Given the description of an element on the screen output the (x, y) to click on. 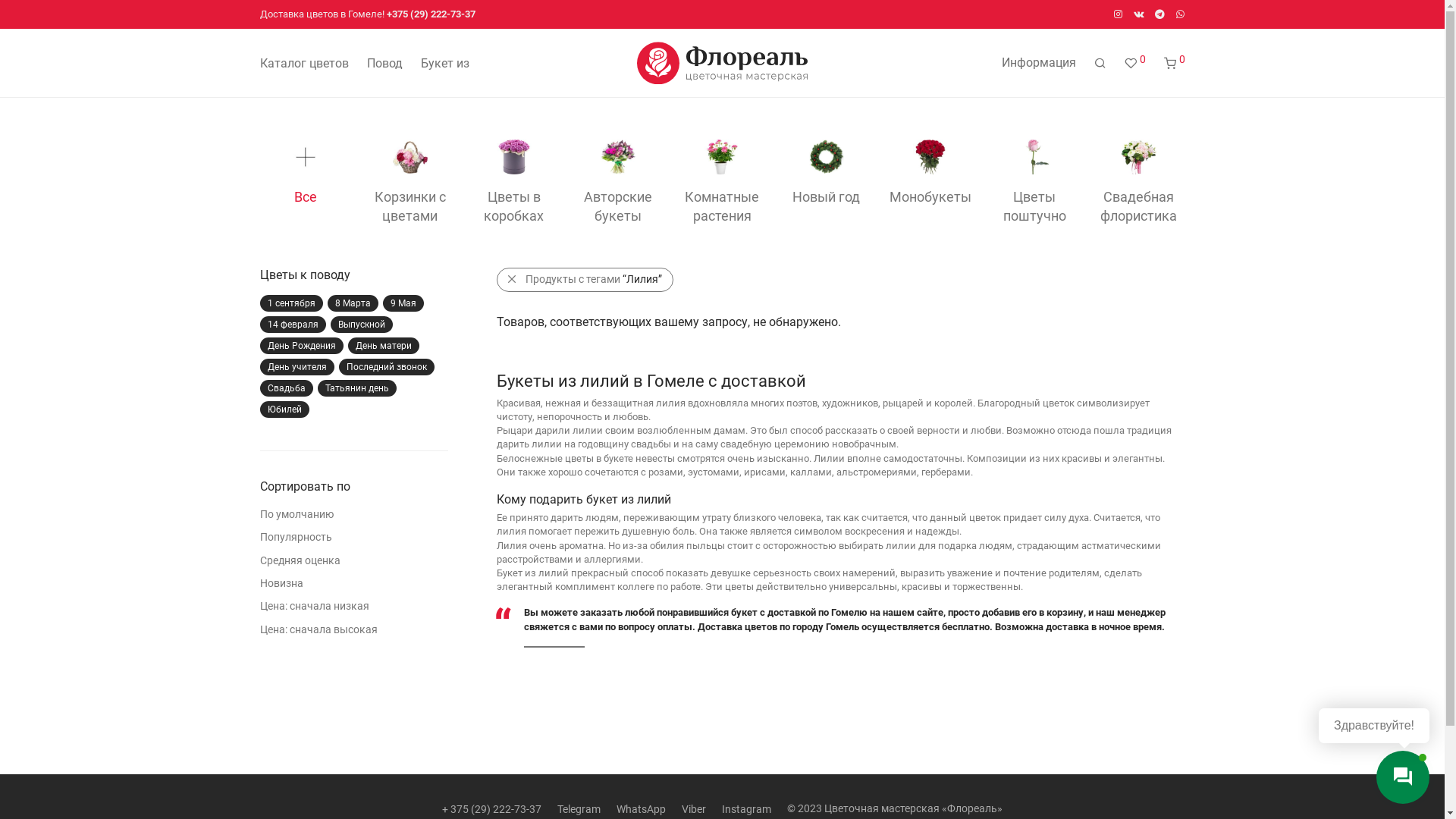
WhatsApp Element type: hover (1180, 13)
Instagram Element type: hover (1117, 13)
0 Element type: text (1134, 63)
Telegram Element type: hover (1159, 13)
VK Element type: hover (1138, 13)
0 Element type: text (1173, 63)
